Given the description of an element on the screen output the (x, y) to click on. 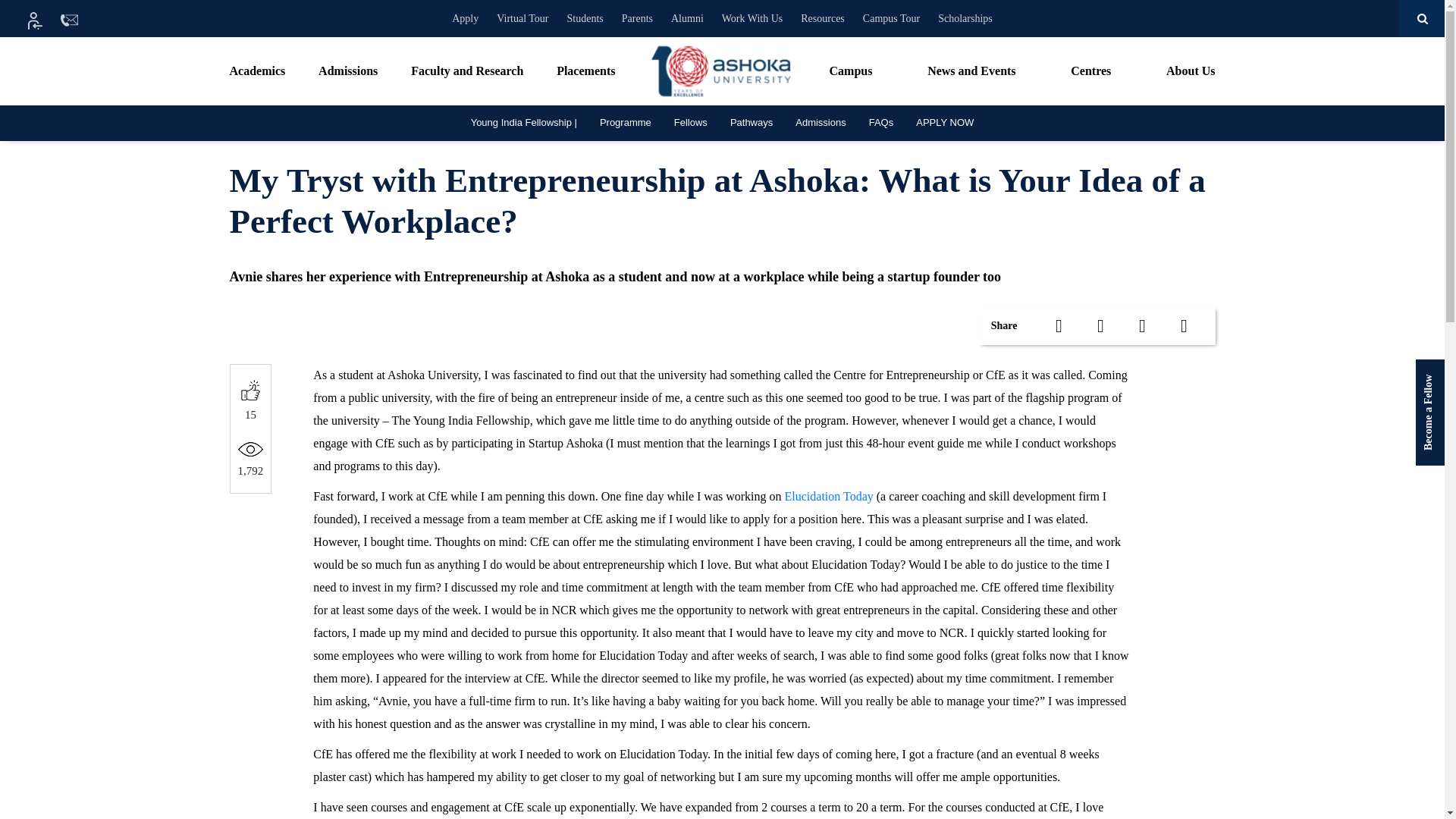
Alumni (687, 18)
Students (584, 18)
Scholarships (964, 18)
Resources (822, 18)
Virtual Tour (522, 18)
Campus Tour (890, 18)
Apply (464, 18)
Work With Us (752, 18)
Parents (637, 18)
